Given the description of an element on the screen output the (x, y) to click on. 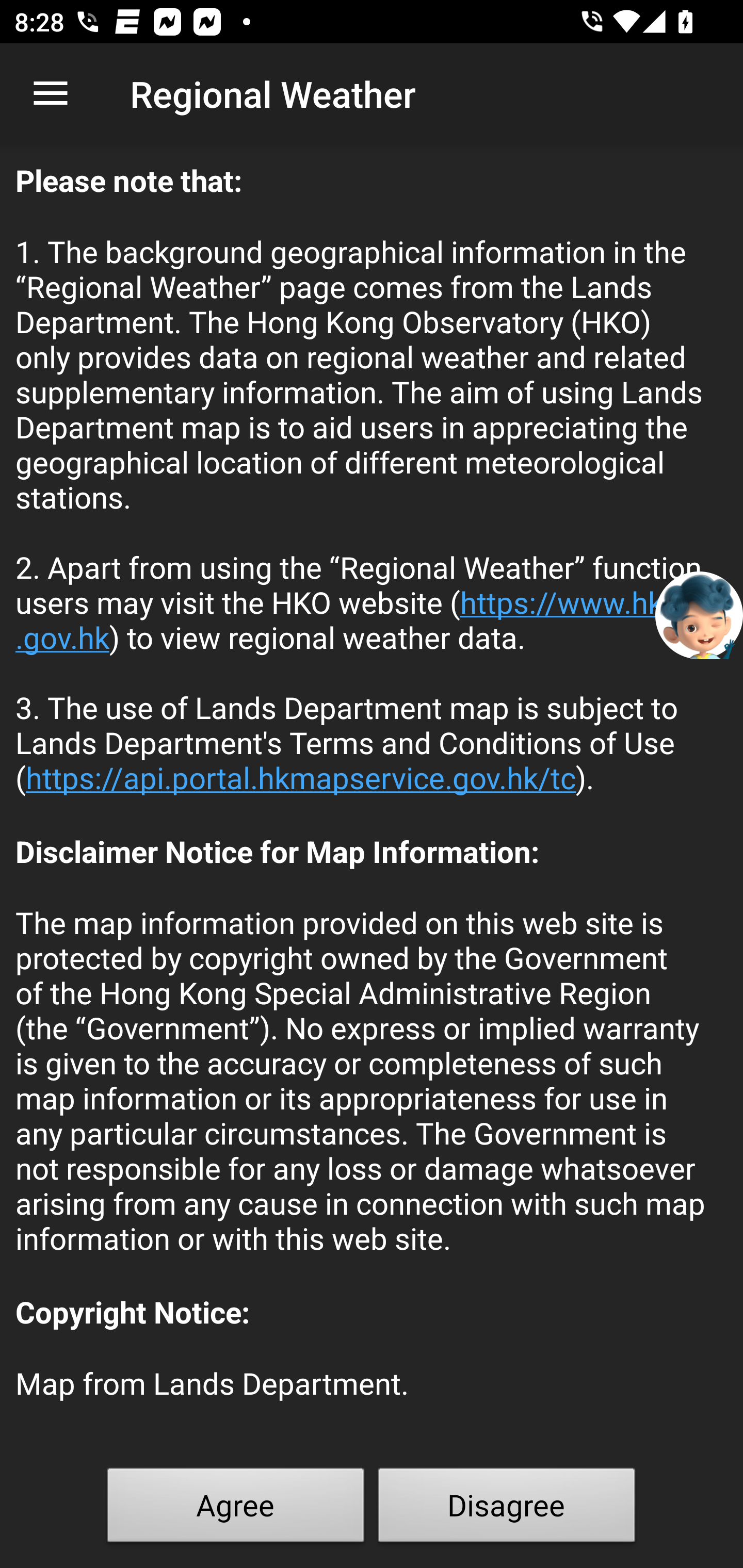
Navigate up (50, 93)
Chatbot (699, 614)
Agree (235, 1509)
Disagree (506, 1509)
